Given the description of an element on the screen output the (x, y) to click on. 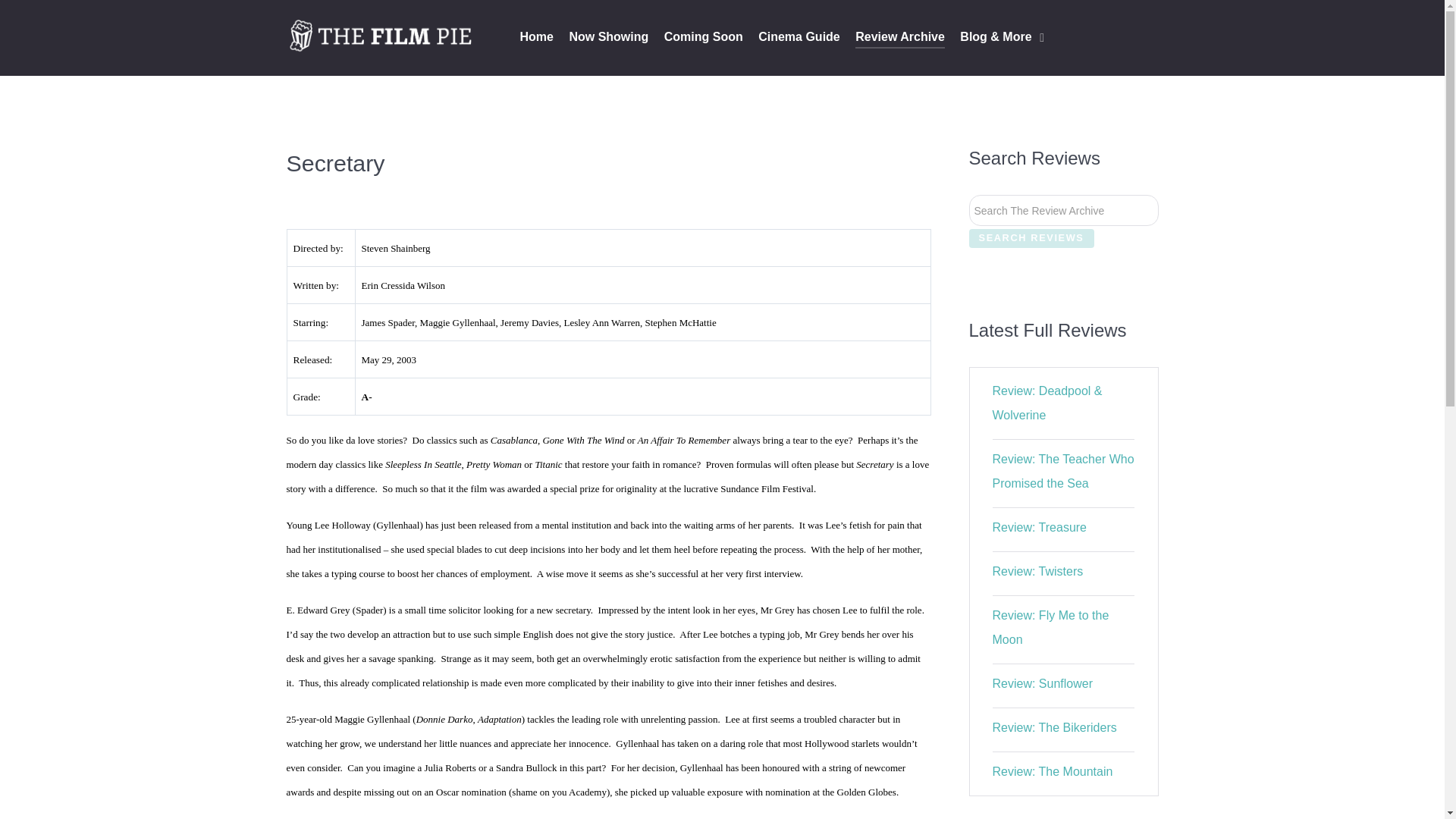
Now Showing (608, 38)
Coming Soon (702, 38)
Review: Treasure (1039, 526)
Home (536, 38)
Review: The Teacher Who Promised the Sea (1063, 470)
Review: Twisters (1037, 571)
SEARCH REVIEWS (1031, 238)
Review Archive (900, 38)
Review: The Mountain (1052, 771)
Review: Fly Me to the Moon (1050, 627)
Review: Sunflower (1042, 683)
Review: The Bikeriders (1054, 727)
Cinema Guide (799, 38)
